Given the description of an element on the screen output the (x, y) to click on. 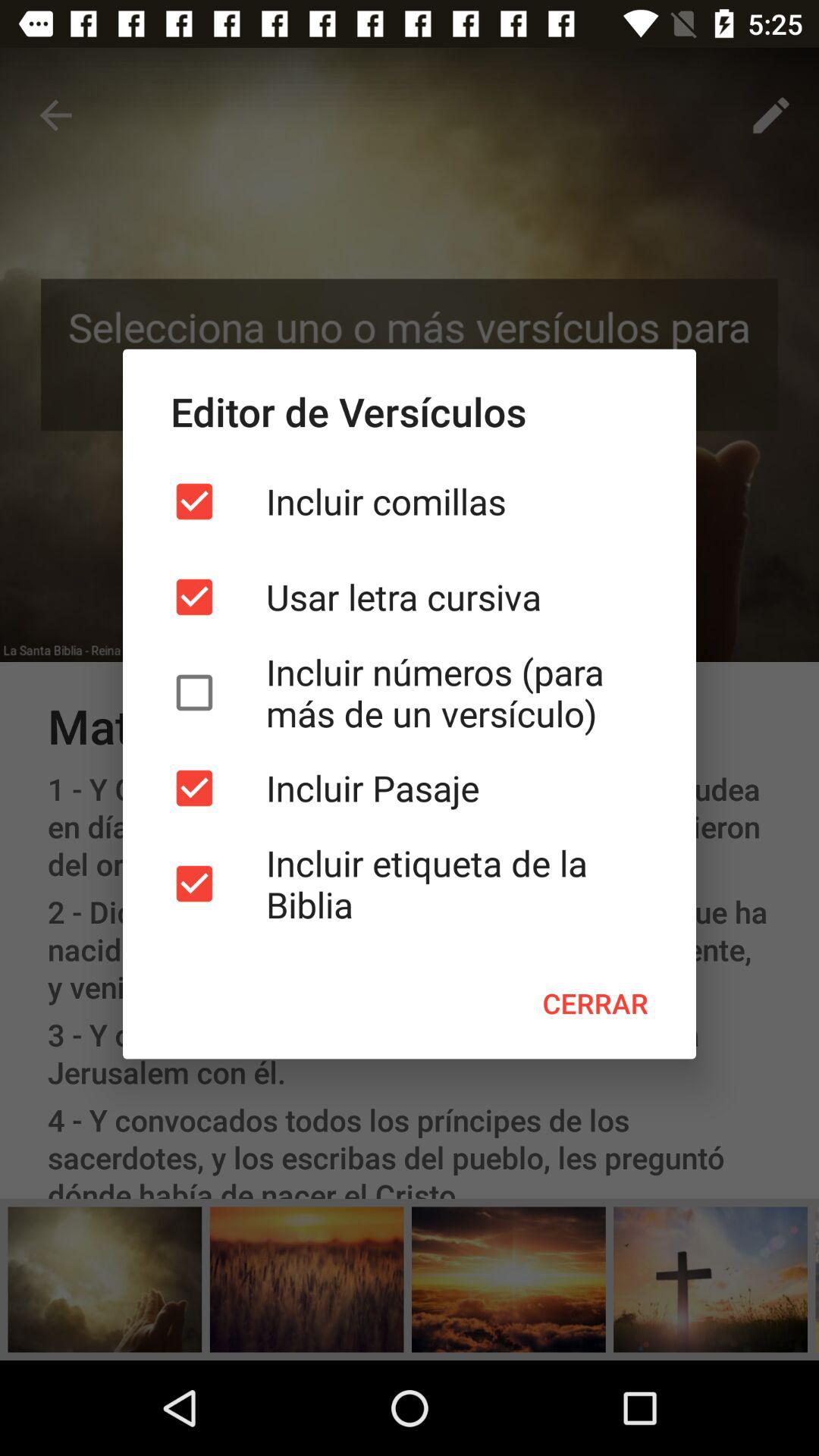
choose icon above the incluir etiqueta de icon (409, 788)
